Given the description of an element on the screen output the (x, y) to click on. 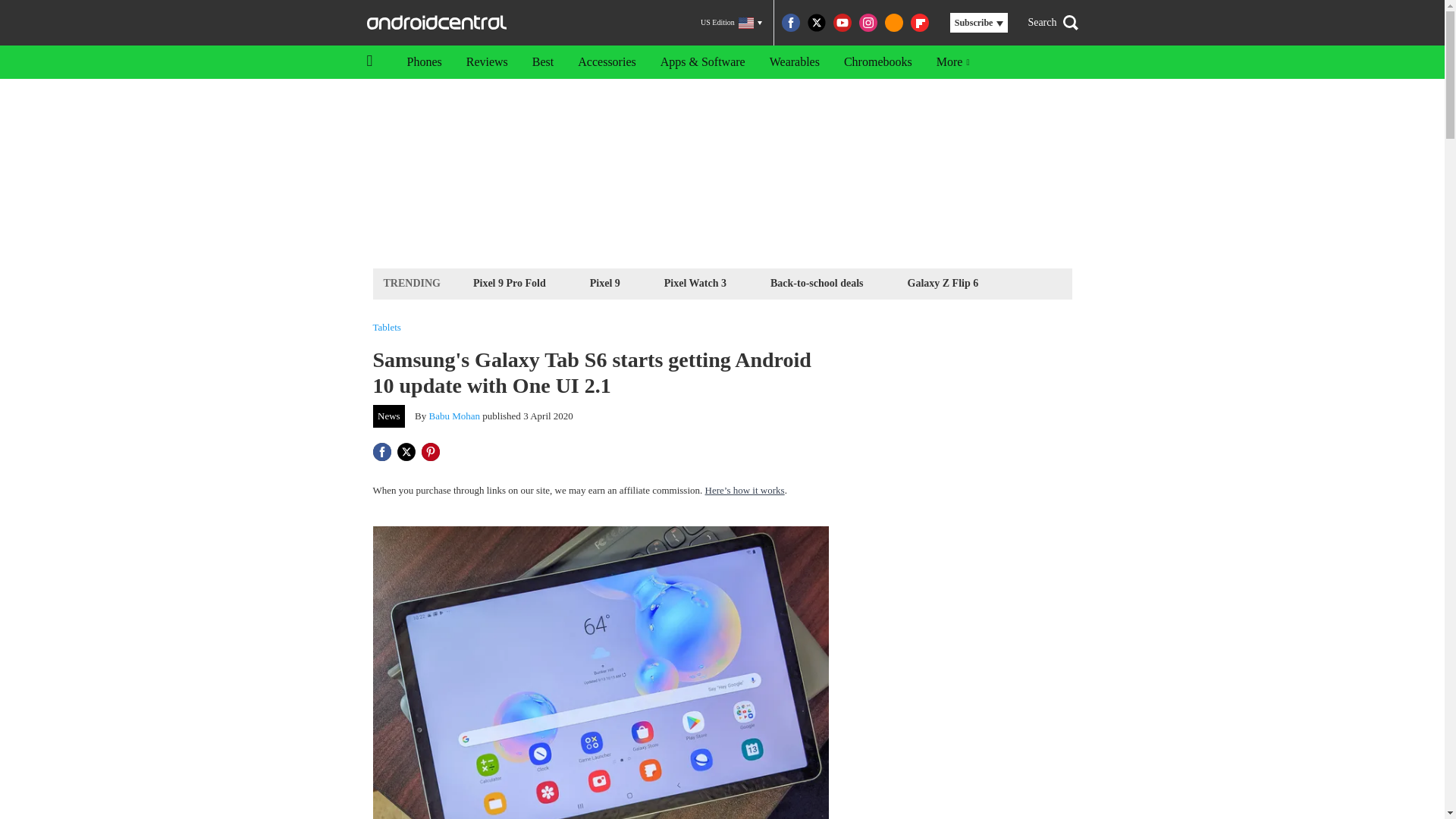
Pixel 9 Pro Fold (509, 282)
Tablets (386, 327)
Reviews (486, 61)
News (389, 415)
US Edition (731, 22)
Back-to-school deals (817, 282)
Pixel 9 (605, 282)
Accessories (606, 61)
Chromebooks (877, 61)
Babu Mohan (454, 415)
